Given the description of an element on the screen output the (x, y) to click on. 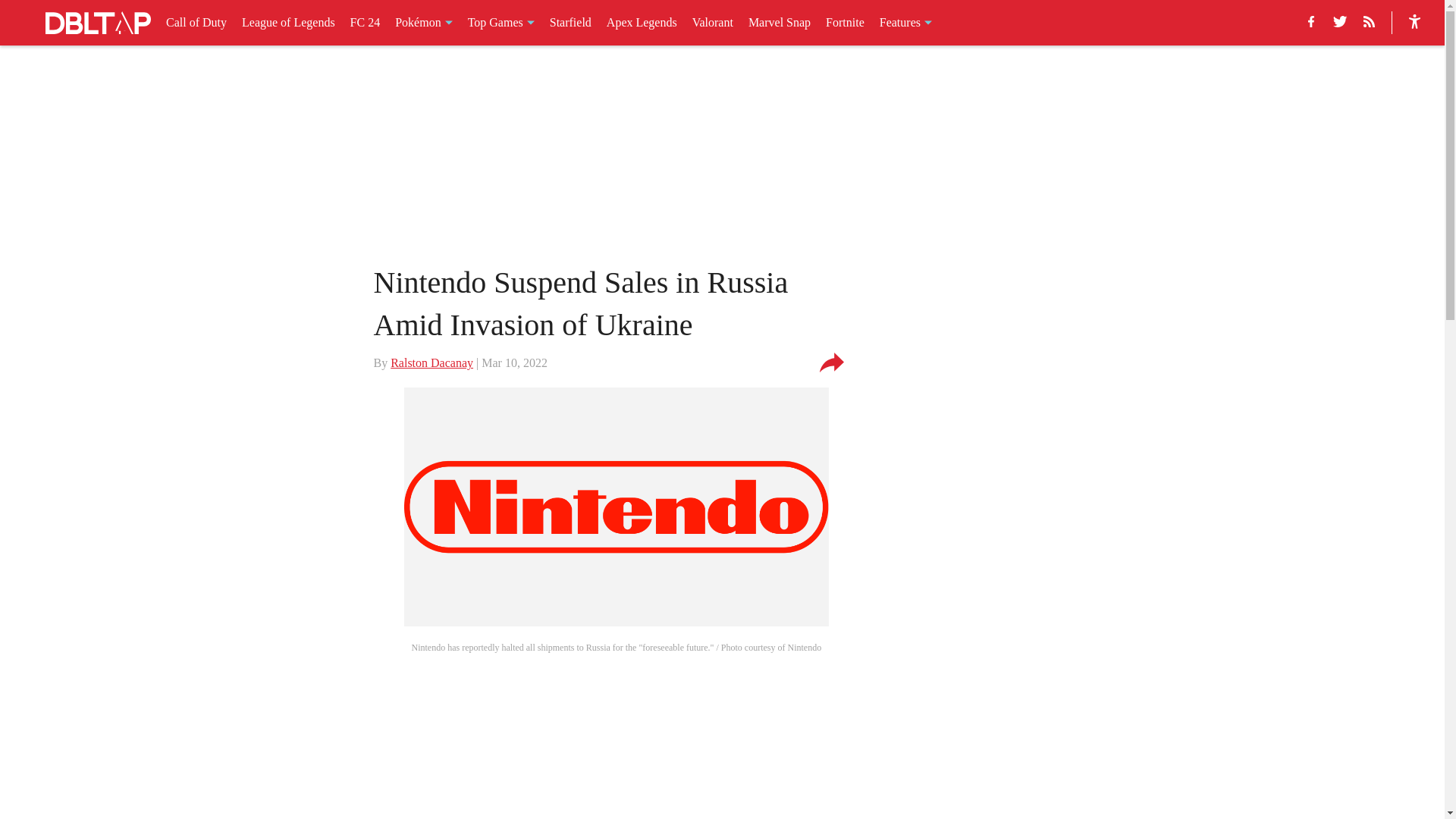
Top Games (500, 22)
Marvel Snap (779, 22)
FC 24 (365, 22)
Features (905, 22)
Ralston Dacanay (431, 362)
Valorant (713, 22)
League of Legends (287, 22)
Fortnite (844, 22)
Starfield (570, 22)
Call of Duty (196, 22)
Apex Legends (642, 22)
